Given the description of an element on the screen output the (x, y) to click on. 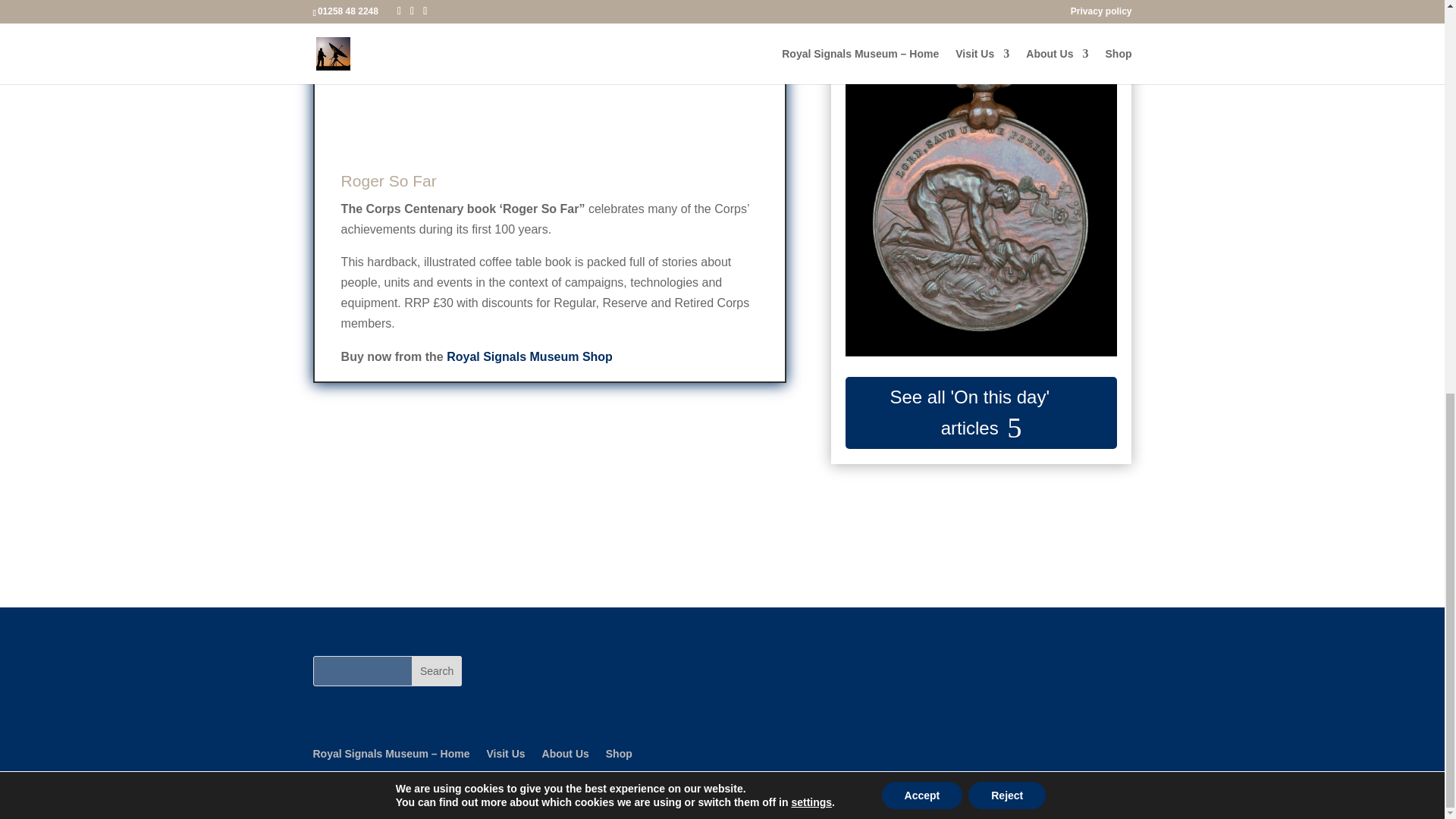
Royal Signals Museum Shop (529, 356)
Roger So Far (388, 180)
See all 'On this day' articles (980, 412)
Search (436, 671)
